Given the description of an element on the screen output the (x, y) to click on. 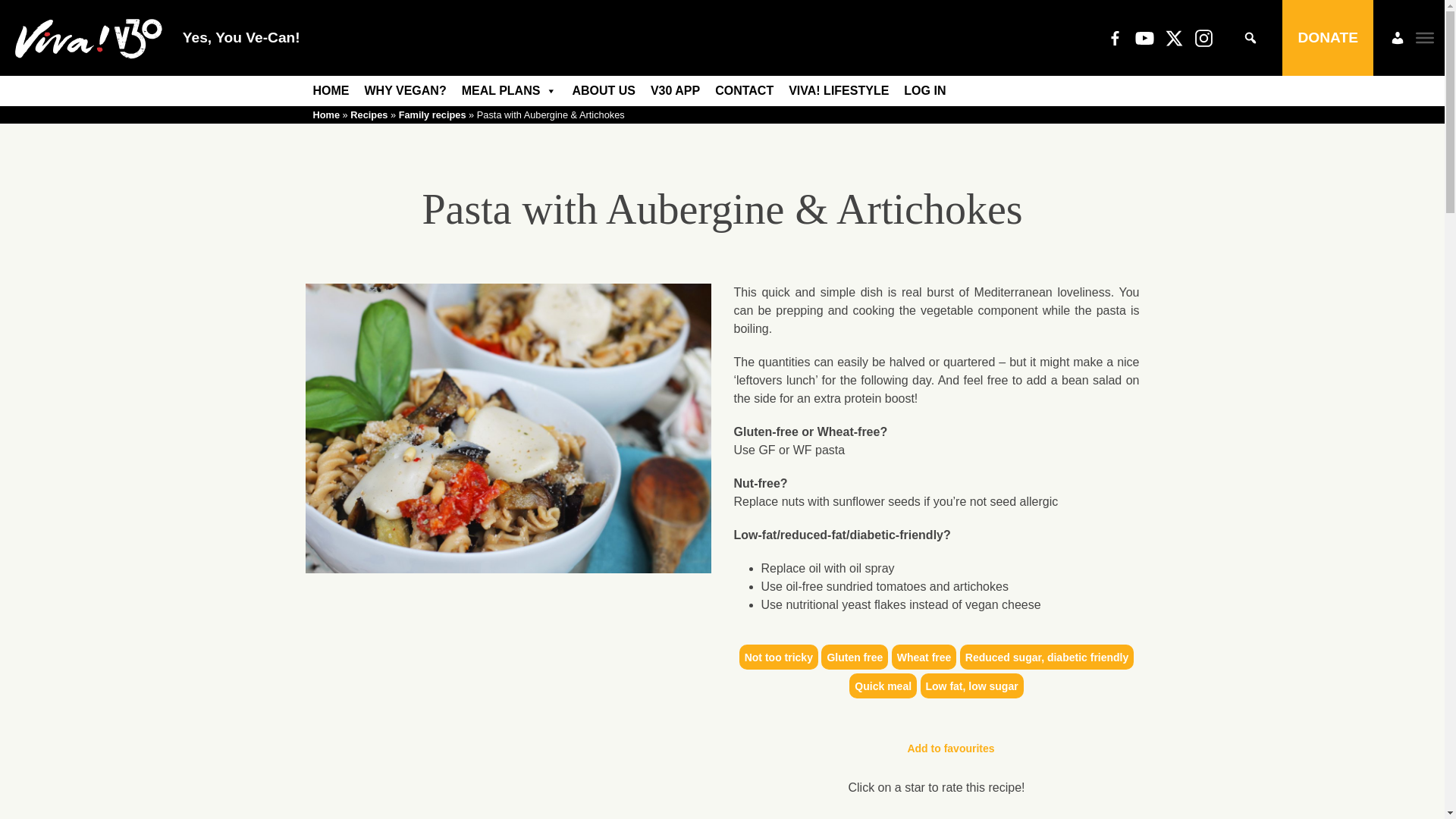
ABOUT US (603, 91)
Instagram (1204, 37)
Donate to Viva! (1327, 38)
Search (21, 7)
Youtube (1144, 37)
CONTACT (743, 91)
Bookmark This (936, 749)
VIVA! LIFESTYLE (838, 91)
DONATE (1327, 38)
Facebook (1115, 37)
Twitter (1174, 37)
HOME (330, 91)
V30 APP (675, 91)
WHY VEGAN? (404, 91)
MEAL PLANS (509, 91)
